Given the description of an element on the screen output the (x, y) to click on. 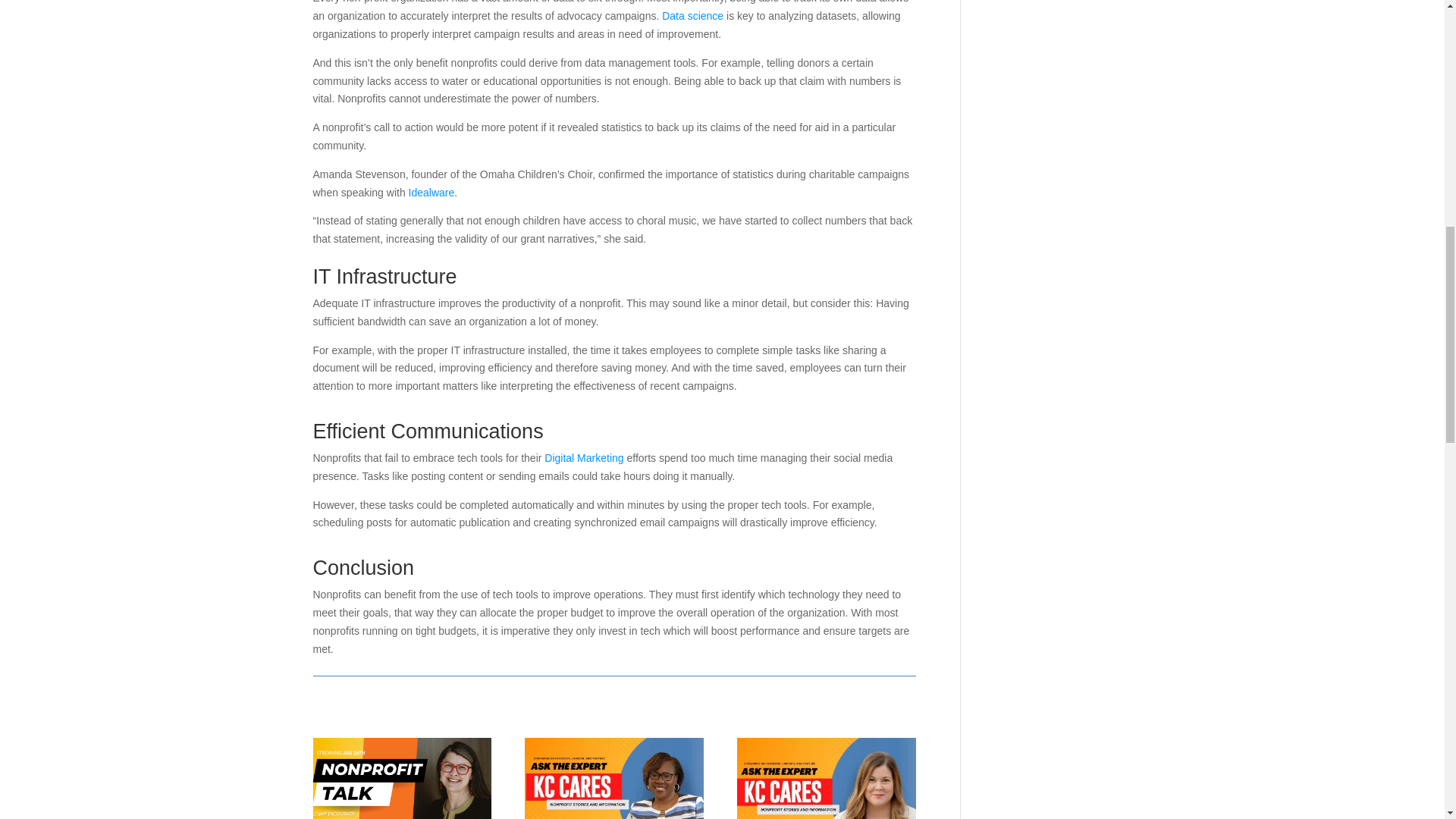
Data science (692, 15)
Digital Marketing (583, 458)
Idealware (431, 192)
